Given the description of an element on the screen output the (x, y) to click on. 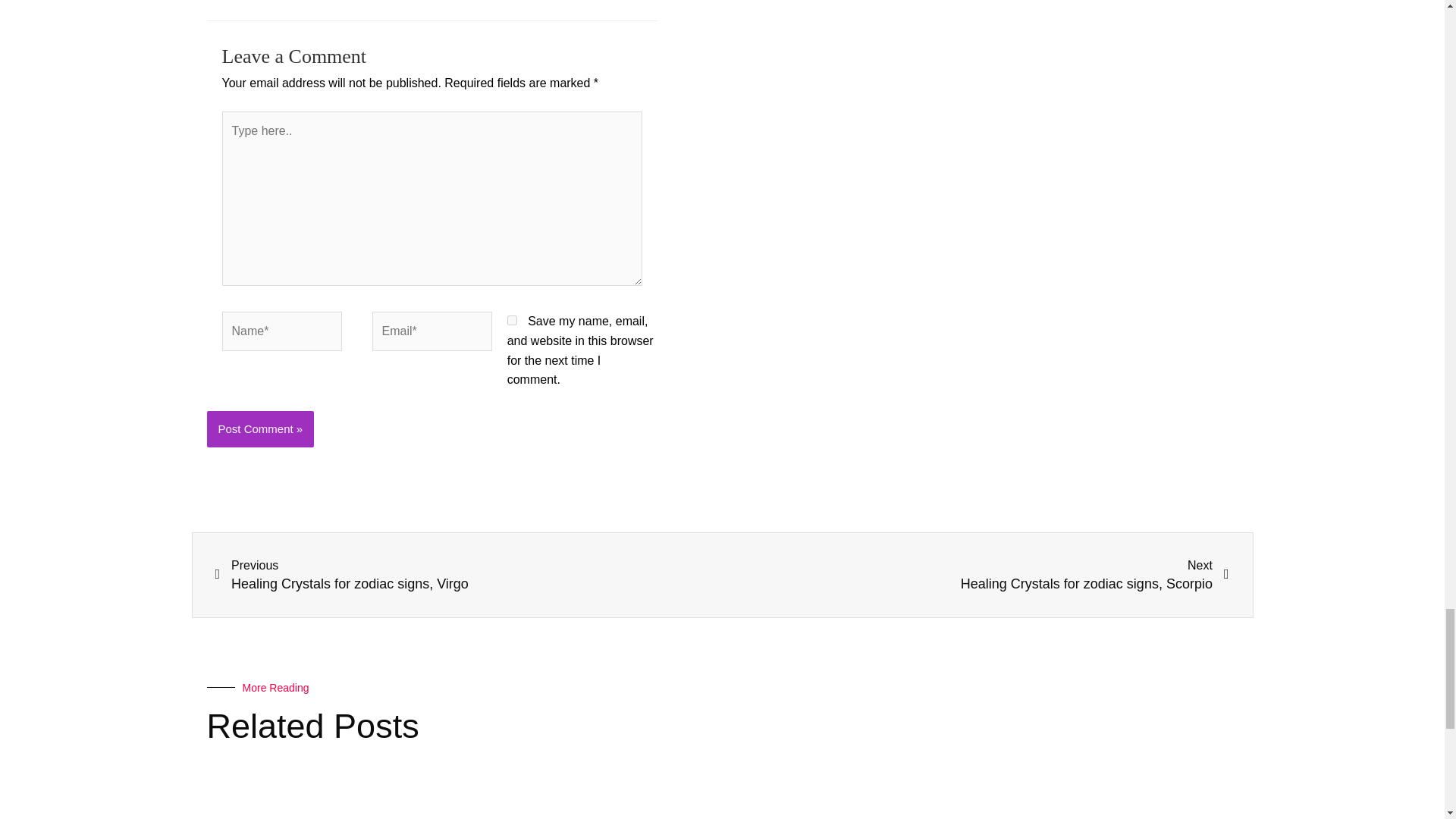
yes (975, 575)
